Given the description of an element on the screen output the (x, y) to click on. 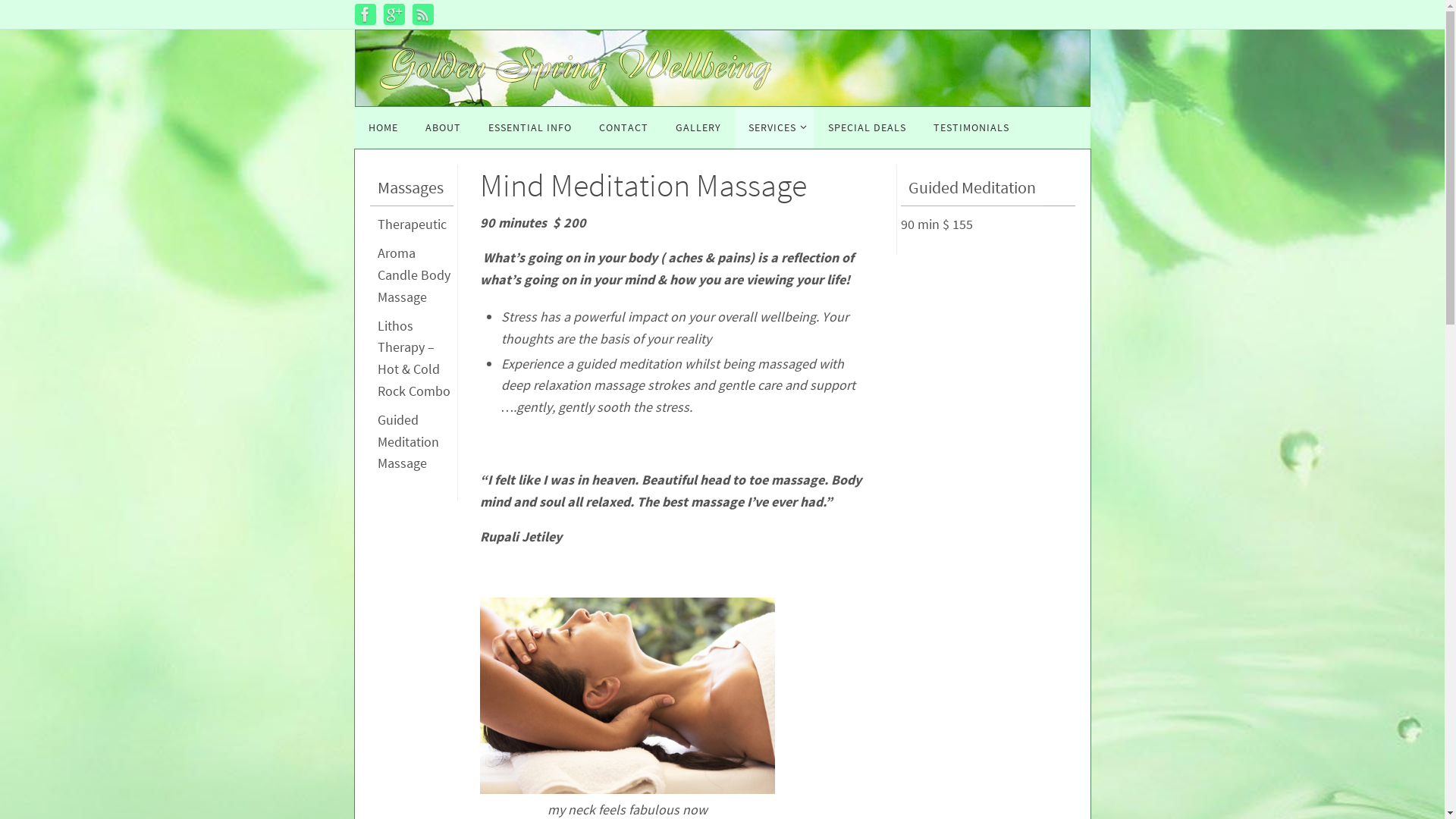
Aroma Candle Body Massage Element type: text (413, 275)
ESSENTIAL INFO Element type: text (529, 127)
ABOUT Element type: text (442, 127)
Guided Meditation Massage Element type: text (408, 442)
Facebook Element type: hover (365, 14)
TESTIMONIALS Element type: text (970, 127)
GALLERY Element type: text (697, 127)
RSS Feed Element type: hover (422, 14)
SERVICES Element type: text (773, 127)
google plus Element type: hover (393, 14)
Golden Spring Wellbeing Element type: hover (574, 69)
Therapeutic Element type: text (411, 224)
HOME Element type: text (382, 127)
CONTACT Element type: text (623, 127)
SPECIAL DEALS Element type: text (866, 127)
